Given the description of an element on the screen output the (x, y) to click on. 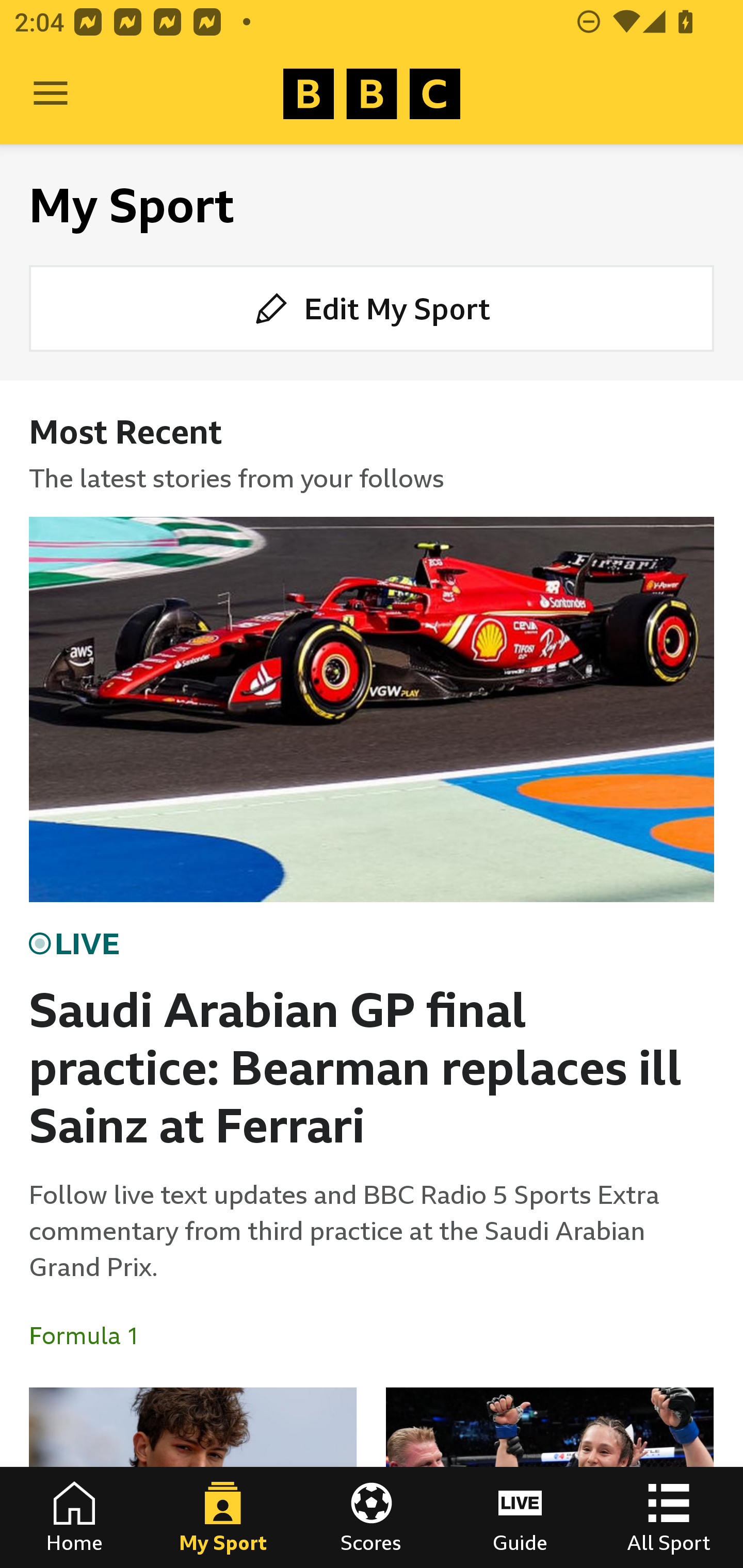
Open Menu (50, 93)
Edit My Sport (371, 307)
Home (74, 1517)
Scores (371, 1517)
Guide (519, 1517)
All Sport (668, 1517)
